Given the description of an element on the screen output the (x, y) to click on. 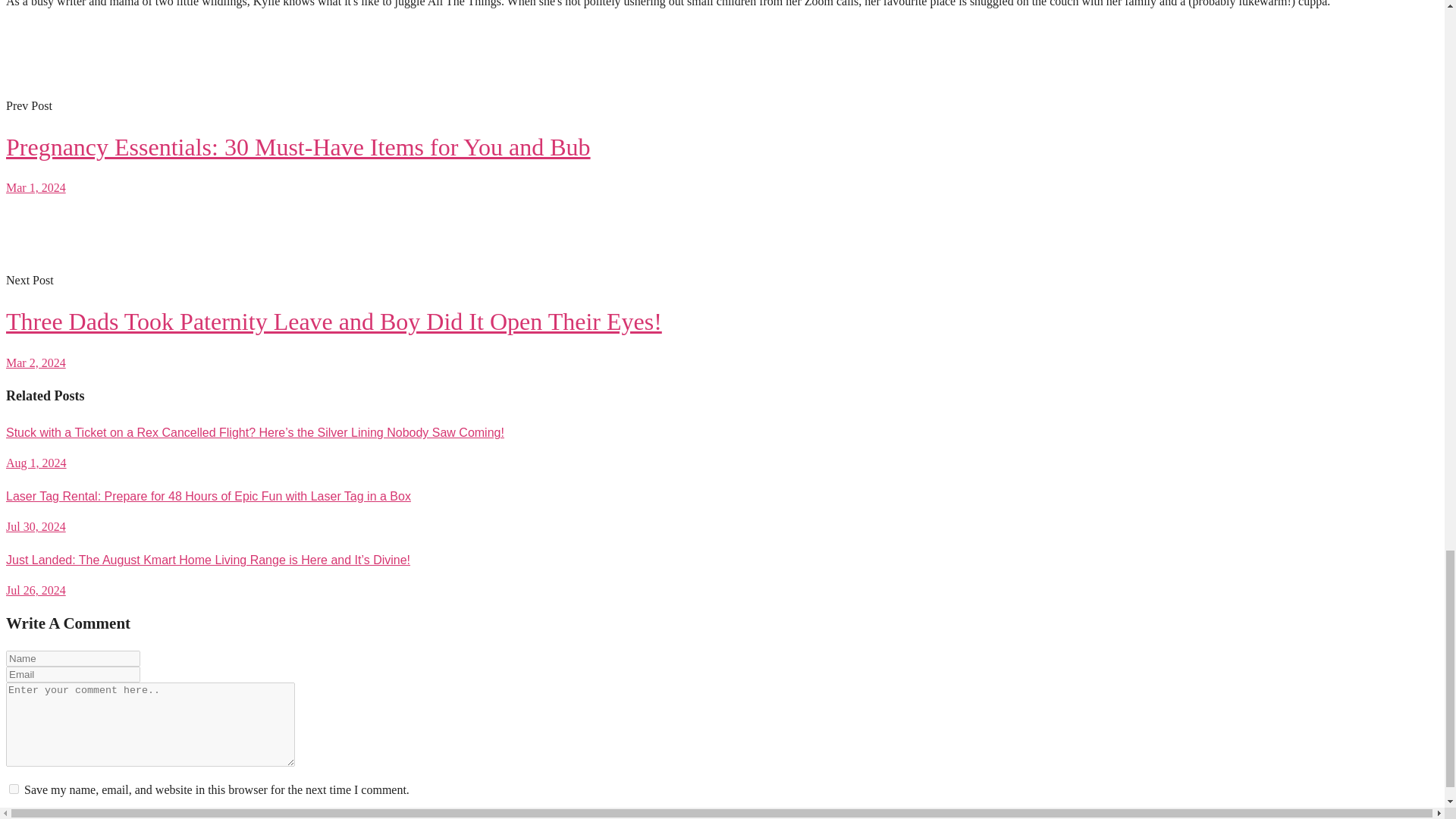
Pregnancy Essentials: 30 Must-Have Items for You and Bub 1 (62, 58)
yes (13, 788)
